Given the description of an element on the screen output the (x, y) to click on. 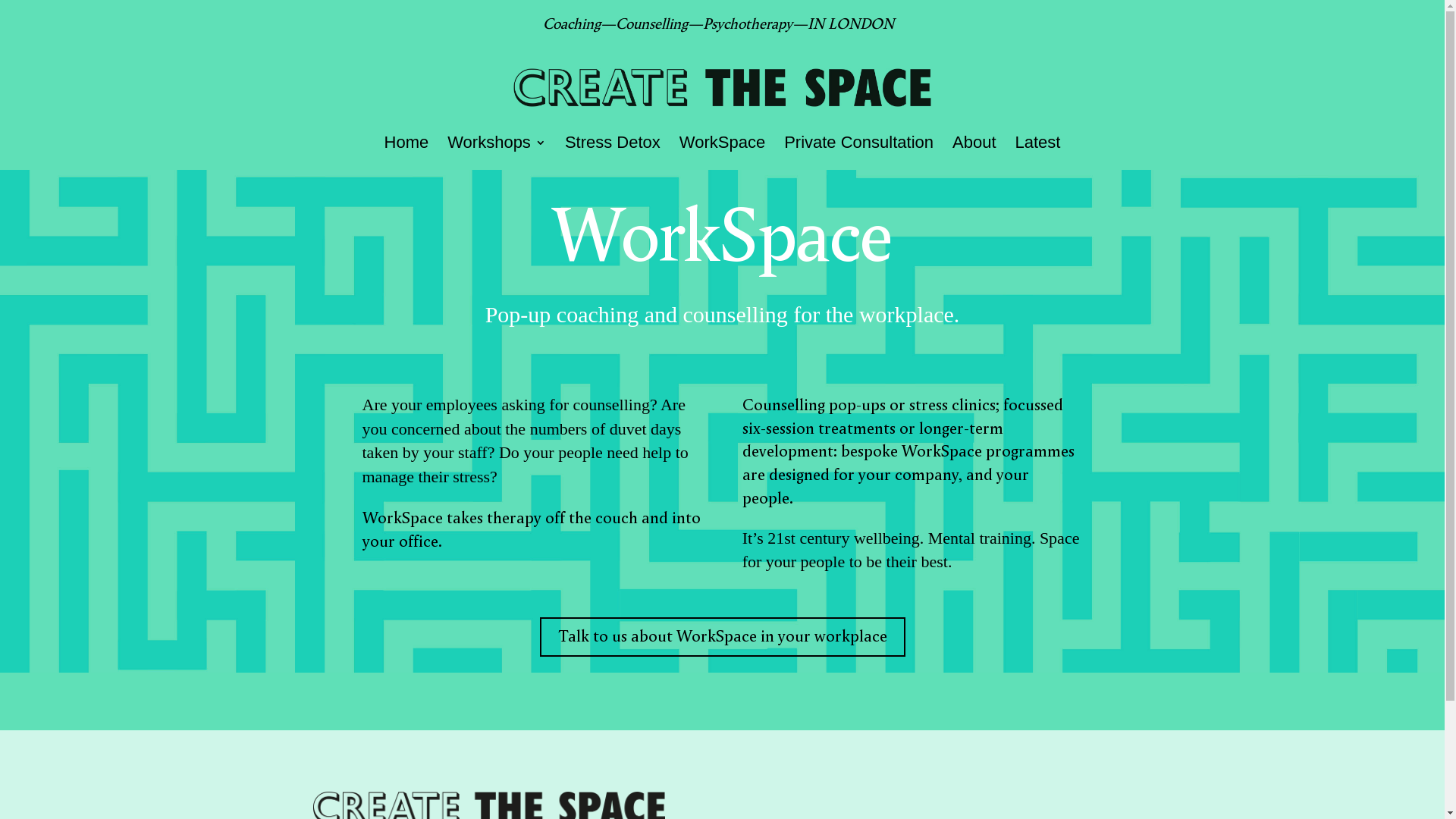
Talk to us about WorkSpace in your workplace Element type: text (722, 636)
Workshops Element type: text (496, 153)
Stress Detox Element type: text (612, 153)
Latest Element type: text (1037, 153)
About Element type: text (974, 153)
WorkSpace Element type: text (722, 153)
Home Element type: text (406, 153)
Private Consultation Element type: text (858, 153)
